Given the description of an element on the screen output the (x, y) to click on. 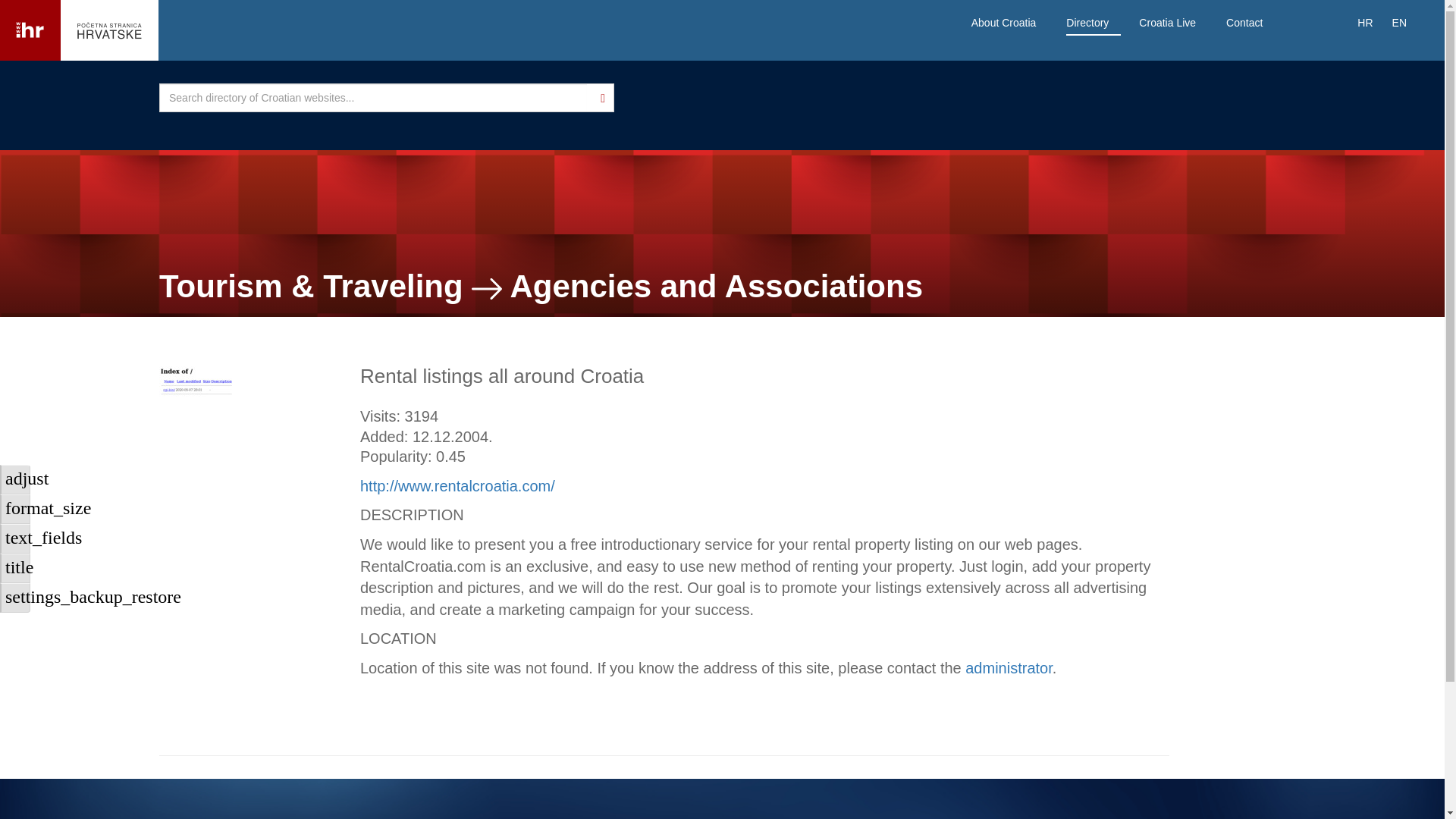
title (15, 568)
EN (1399, 22)
administrator (1008, 668)
adjust (15, 479)
Contact (1244, 22)
Visit site Rental listings all around Croatia (456, 485)
Croatia Live (1167, 22)
Agencies and Associations (716, 285)
Directory (1087, 22)
About Croatia (1003, 22)
